Given the description of an element on the screen output the (x, y) to click on. 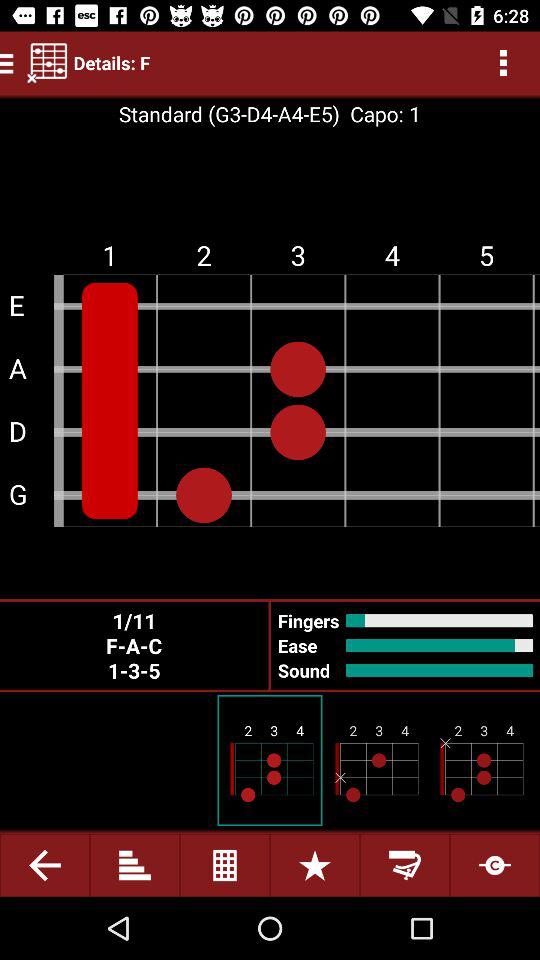
open the item to the left of the   capo: 1 (228, 113)
